Given the description of an element on the screen output the (x, y) to click on. 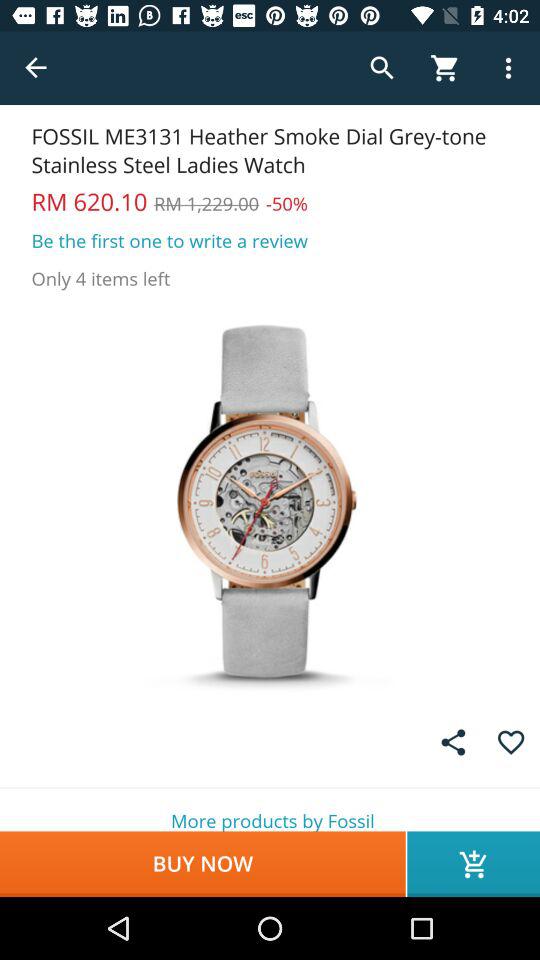
select share symbol which is before favorites (453, 742)
select the third icon which is at top right corner (508, 68)
click on the watch (270, 500)
